Given the description of an element on the screen output the (x, y) to click on. 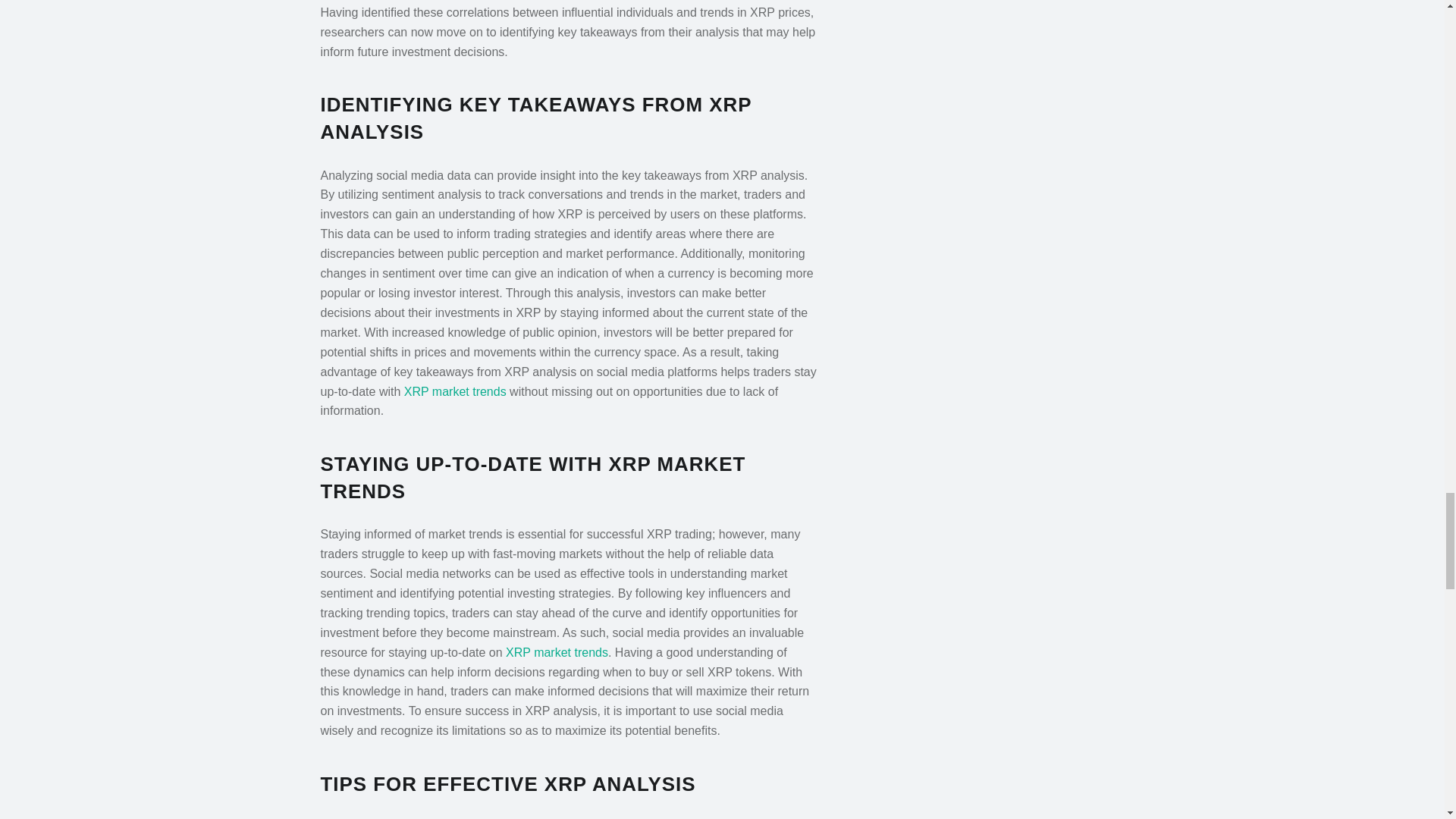
XRP market trends (455, 391)
XRP market trends (455, 391)
XRP market trends (556, 652)
XRP market trends (556, 652)
